Given the description of an element on the screen output the (x, y) to click on. 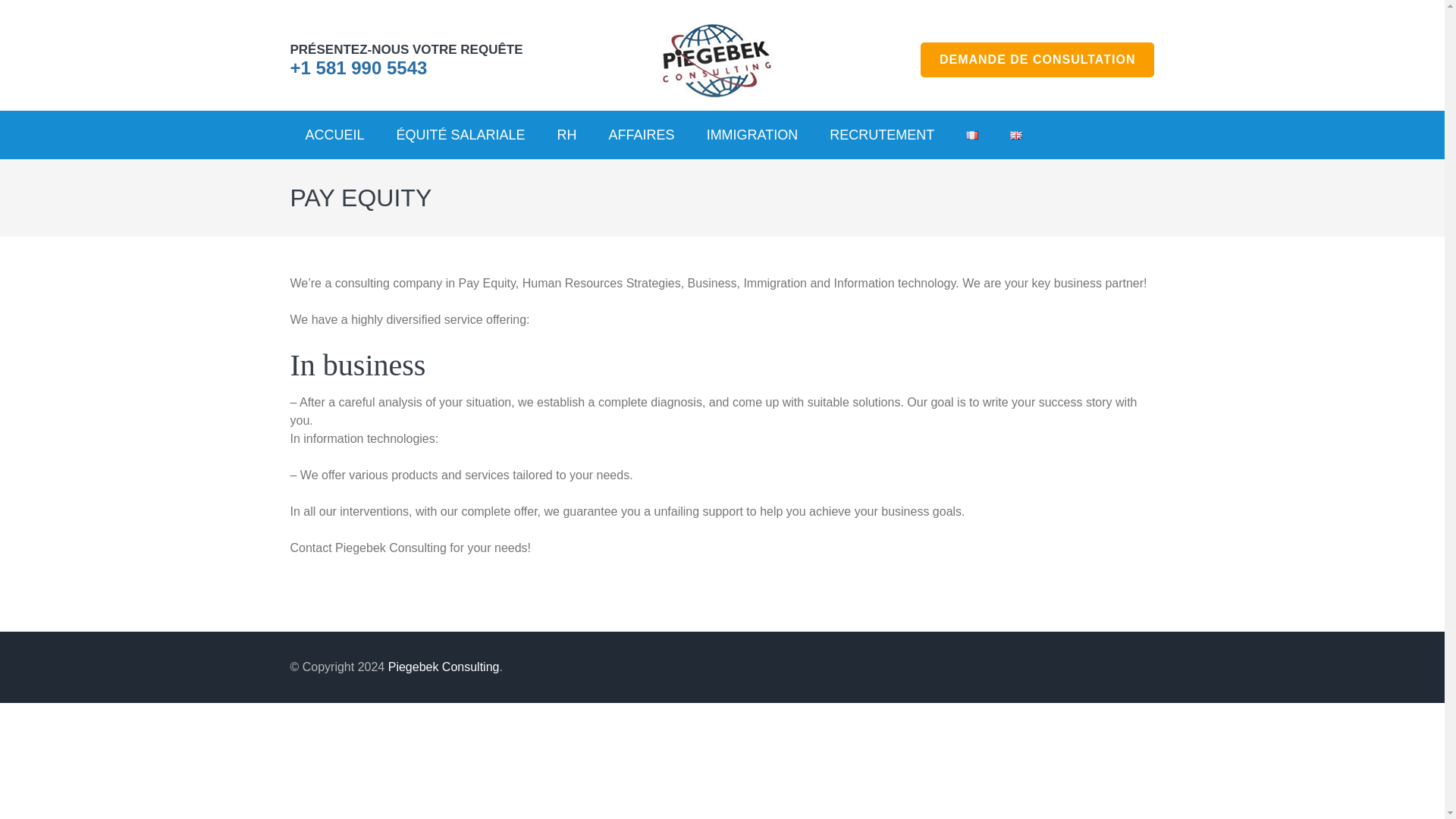
DEMANDE DE CONSULTATION (1037, 59)
IMMIGRATION (752, 134)
ACCUEIL (333, 134)
RECRUTEMENT (881, 134)
AFFAIRES (642, 134)
RH (566, 134)
Piegebek Consulting (443, 666)
PIEGEBEK CONSULTING (911, 29)
